Given the description of an element on the screen output the (x, y) to click on. 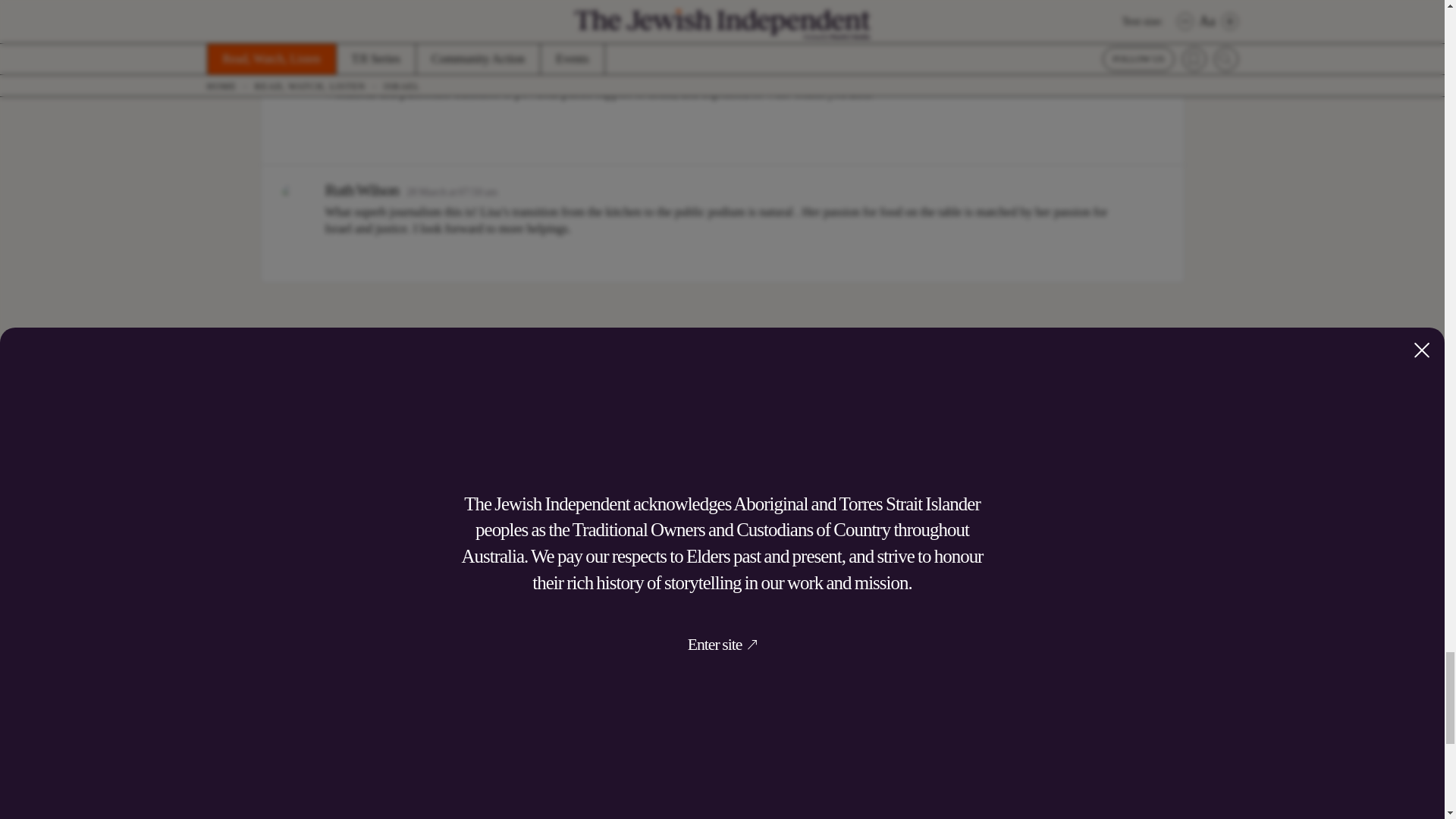
Add to your saved articles (1227, 723)
Add to your saved articles (532, 723)
Add to your saved articles (878, 723)
